Given the description of an element on the screen output the (x, y) to click on. 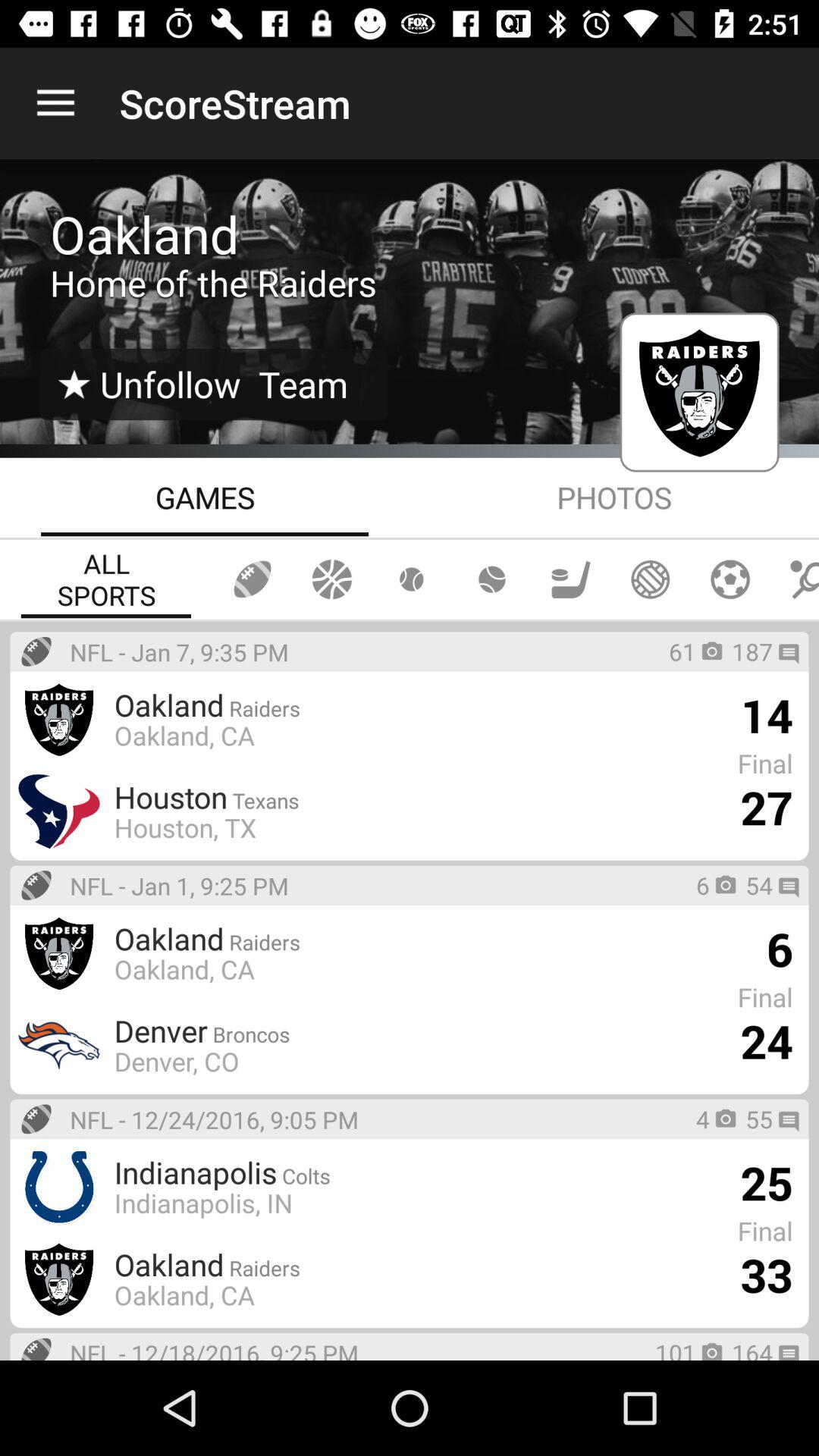
choose the item next to scorestream (55, 103)
